Given the description of an element on the screen output the (x, y) to click on. 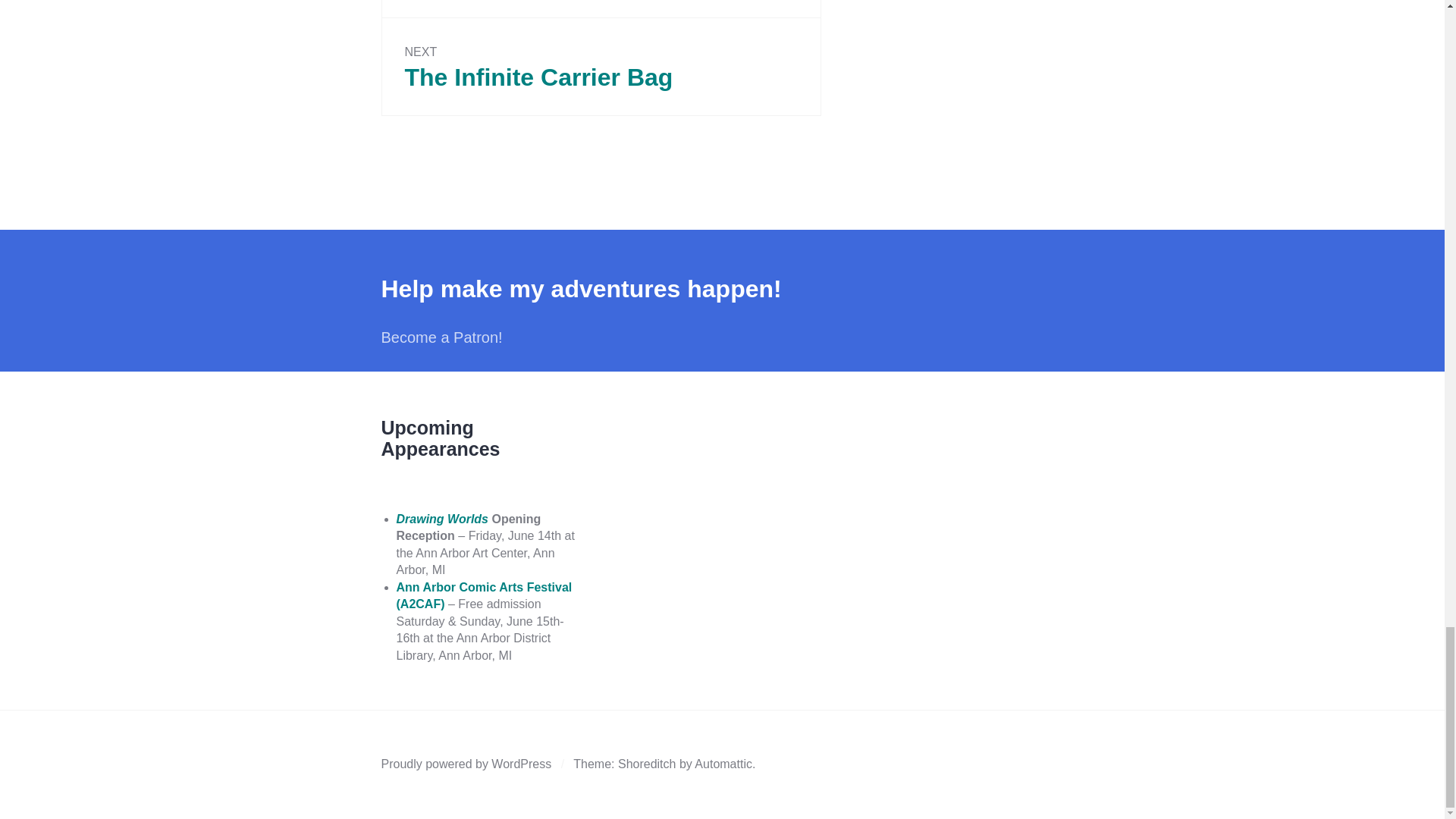
Become a Patron! (441, 337)
Proudly powered by WordPress (465, 763)
Drawing Worlds (441, 518)
